Given the description of an element on the screen output the (x, y) to click on. 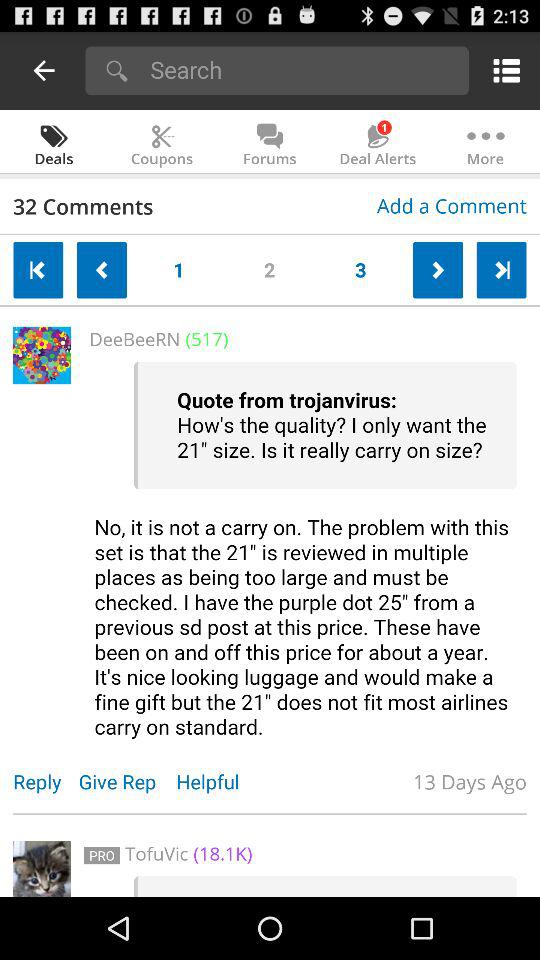
enter search query (302, 69)
